Given the description of an element on the screen output the (x, y) to click on. 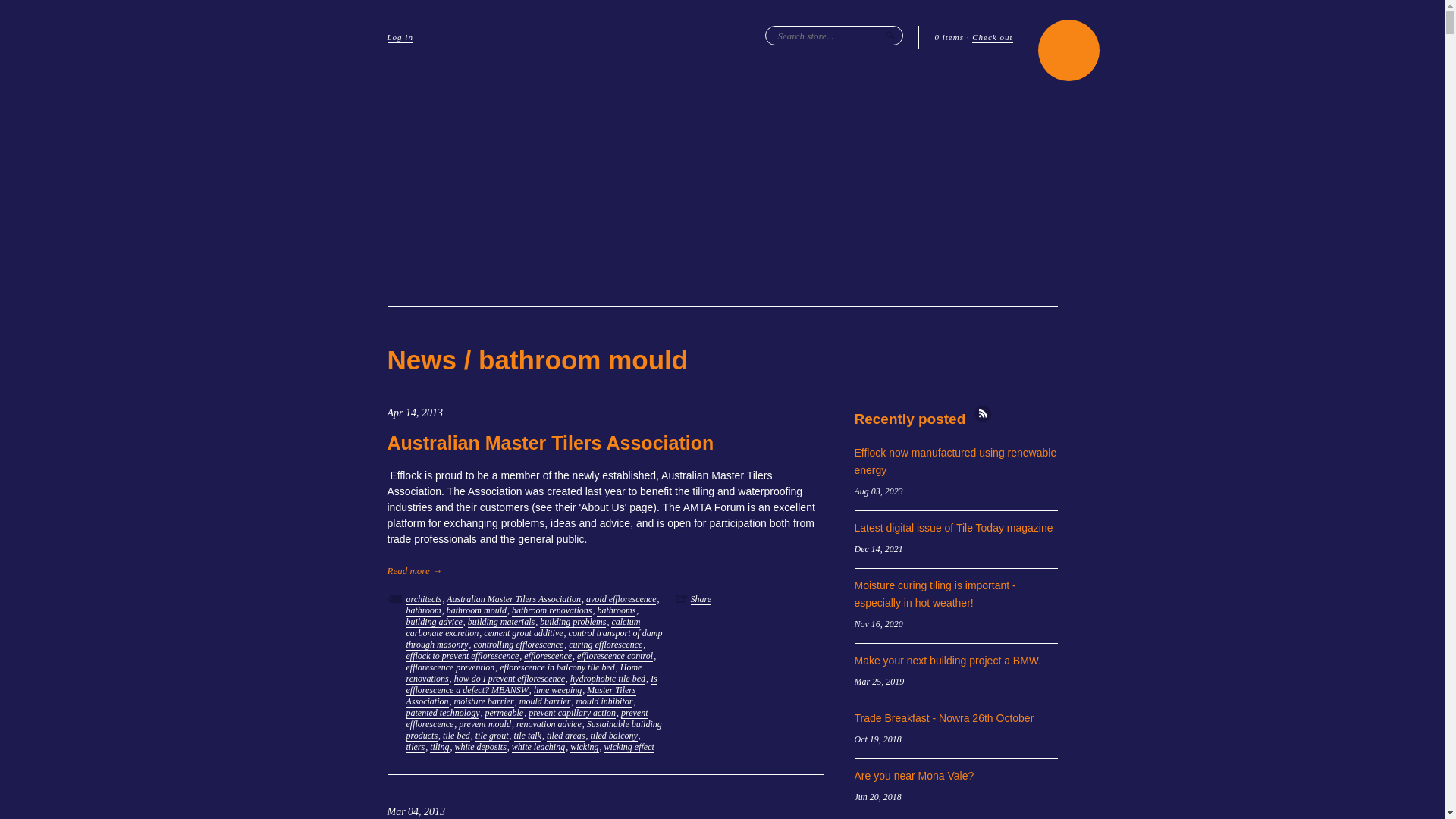
curing efflorescence Element type: text (605, 644)
efflorescence prevention Element type: text (450, 667)
bathroom Element type: text (423, 610)
bathroom renovations Element type: text (551, 610)
Australian Master Tilers Association Element type: text (549, 442)
lime weeping Element type: text (557, 690)
Efflock now manufactured using renewable energy Element type: text (954, 461)
tiled balcony Element type: text (613, 735)
mould barrier Element type: text (545, 701)
Log in Element type: text (399, 37)
Trade Breakfast - Nowra 26th October Element type: text (943, 718)
calcium carbonate excretion Element type: text (523, 627)
Australian Master Tilers Association Element type: text (513, 599)
Make your next building project a BMW. Element type: text (947, 660)
tilers Element type: text (415, 747)
eflorescence in balcony tile bed Element type: text (557, 667)
control transport of damp through masonry Element type: text (534, 638)
building problems Element type: text (572, 621)
moisture barrier Element type: text (483, 701)
tile talk Element type: text (527, 735)
cement grout additive Element type: text (522, 633)
Share Element type: text (700, 599)
avoid efflorescence Element type: text (621, 599)
patented technology Element type: text (443, 712)
Sustainable building products Element type: text (534, 729)
0 items Element type: text (948, 37)
Latest digital issue of Tile Today magazine Element type: text (952, 527)
tiled areas Element type: text (565, 735)
white leaching Element type: text (537, 747)
efflorescence control Element type: text (614, 656)
renovation advice Element type: text (548, 724)
how do I prevent efflorescence Element type: text (509, 678)
prevent mould Element type: text (484, 724)
architects Element type: text (424, 599)
Check out Element type: text (992, 37)
Are you near Mona Vale? Element type: text (913, 775)
Master Tilers Association Element type: text (521, 695)
prevent capillary action Element type: text (571, 712)
wicking Element type: text (584, 747)
bathrooms Element type: text (615, 610)
News Element type: text (420, 359)
bathroom mould Element type: text (476, 610)
Is efflorescence a defect? MBANSW Element type: text (531, 684)
white deposits Element type: text (480, 747)
building advice Element type: text (434, 621)
controlling efflorescence Element type: text (518, 644)
RSS Element type: text (982, 413)
permeable Element type: text (503, 712)
building materials Element type: text (500, 621)
efflorescence Element type: text (547, 656)
prevent efflorescence Element type: text (527, 718)
tile grout Element type: text (491, 735)
wicking effect Element type: text (629, 747)
tiling Element type: text (438, 747)
Home renovations Element type: text (524, 673)
efflock to prevent efflorescence Element type: text (462, 656)
tile bed Element type: text (456, 735)
hydrophobic tile bed Element type: text (607, 678)
mould inhibitor Element type: text (603, 701)
